Given the description of an element on the screen output the (x, y) to click on. 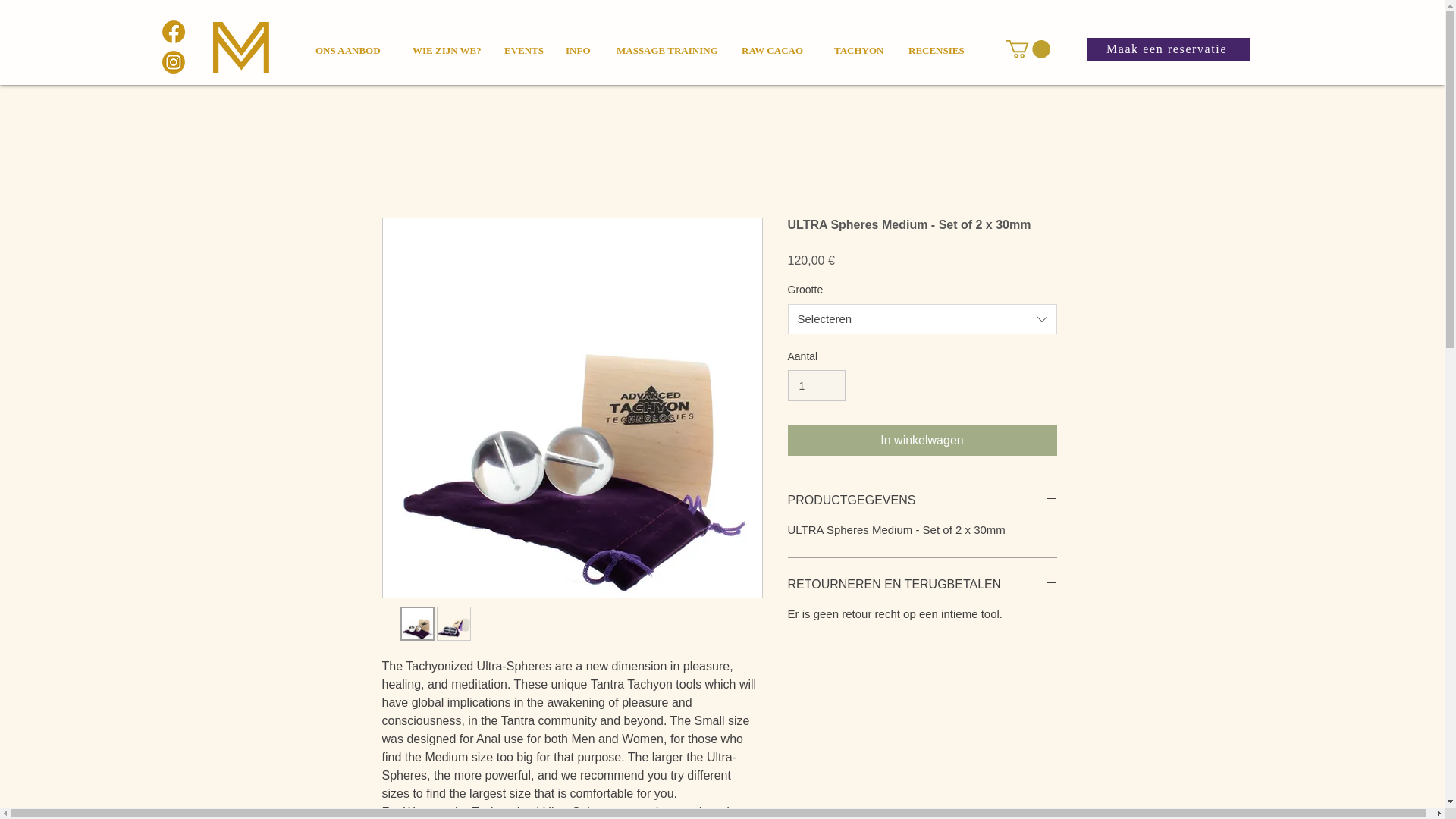
EVENTS (520, 43)
1 (815, 385)
TACHYON (858, 43)
MASSAGE TRAINING (665, 43)
In winkelwagen (922, 440)
Selecteren (922, 318)
PRODUCTGEGEVENS (922, 500)
Maak een reservatie (1168, 48)
